Given the description of an element on the screen output the (x, y) to click on. 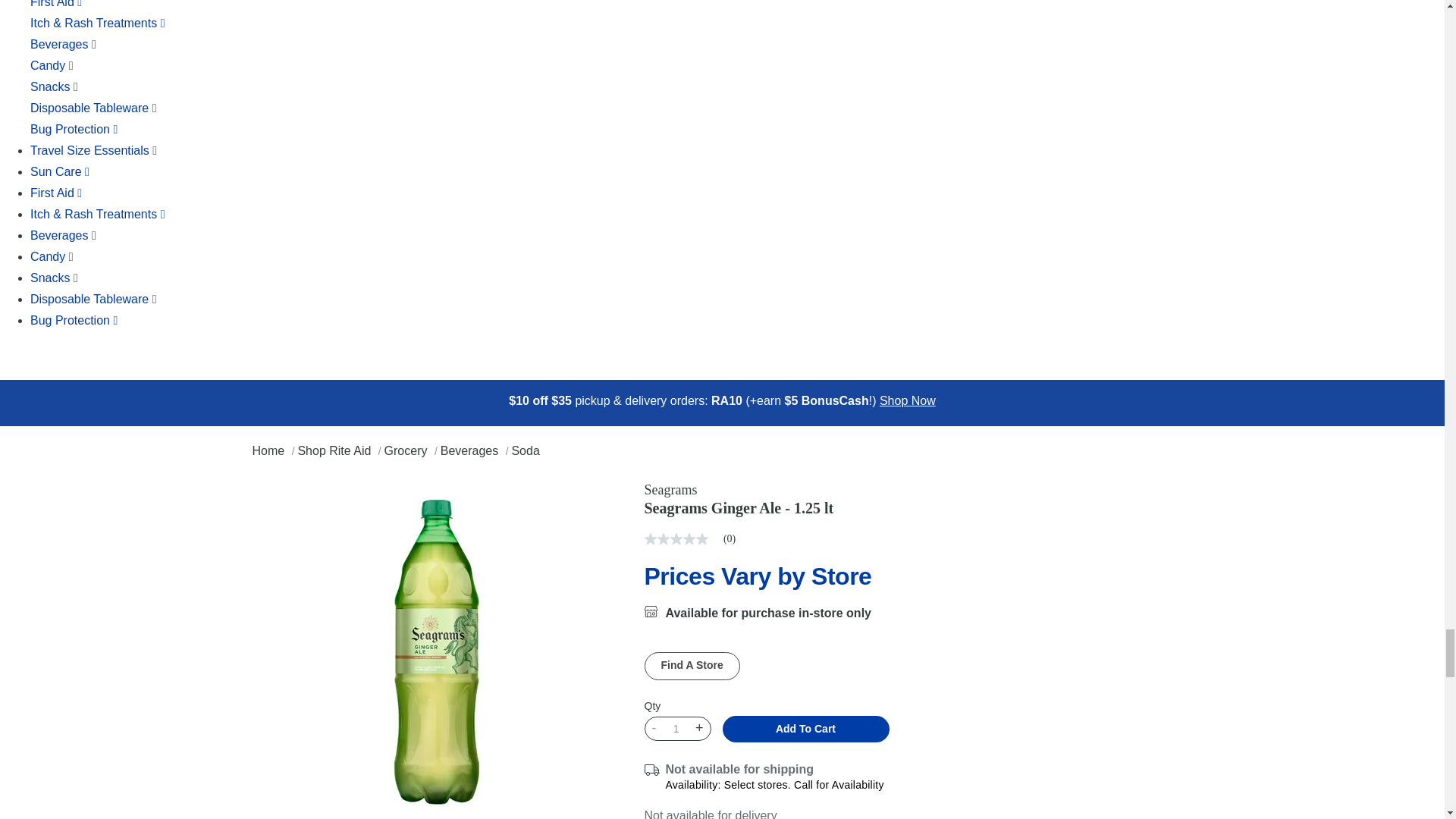
Go to Soda (524, 450)
Add to Cart (805, 728)
Go to Shop Rite Aid (335, 450)
Go to Grocery (407, 450)
Qty (675, 728)
Go to Home Page (268, 450)
Go to Beverages (471, 450)
1 (675, 728)
Brand name (818, 490)
